Given the description of an element on the screen output the (x, y) to click on. 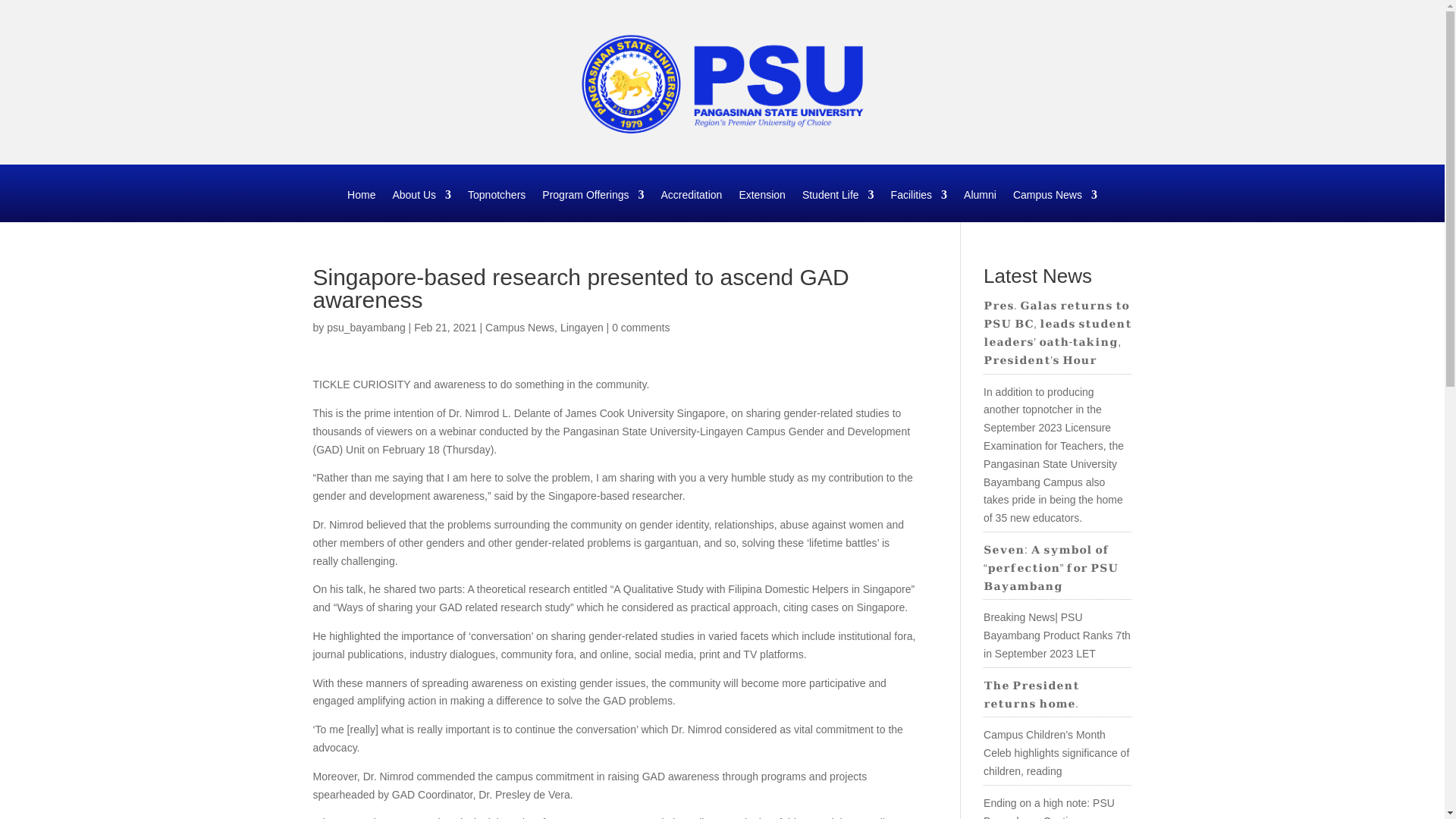
Student Life (838, 205)
Accreditation (691, 205)
Alumni (979, 205)
Campus News (1055, 205)
Topnotchers (496, 205)
About Us (421, 205)
Program Offerings (592, 205)
Facilities (919, 205)
Extension (761, 205)
